Given the description of an element on the screen output the (x, y) to click on. 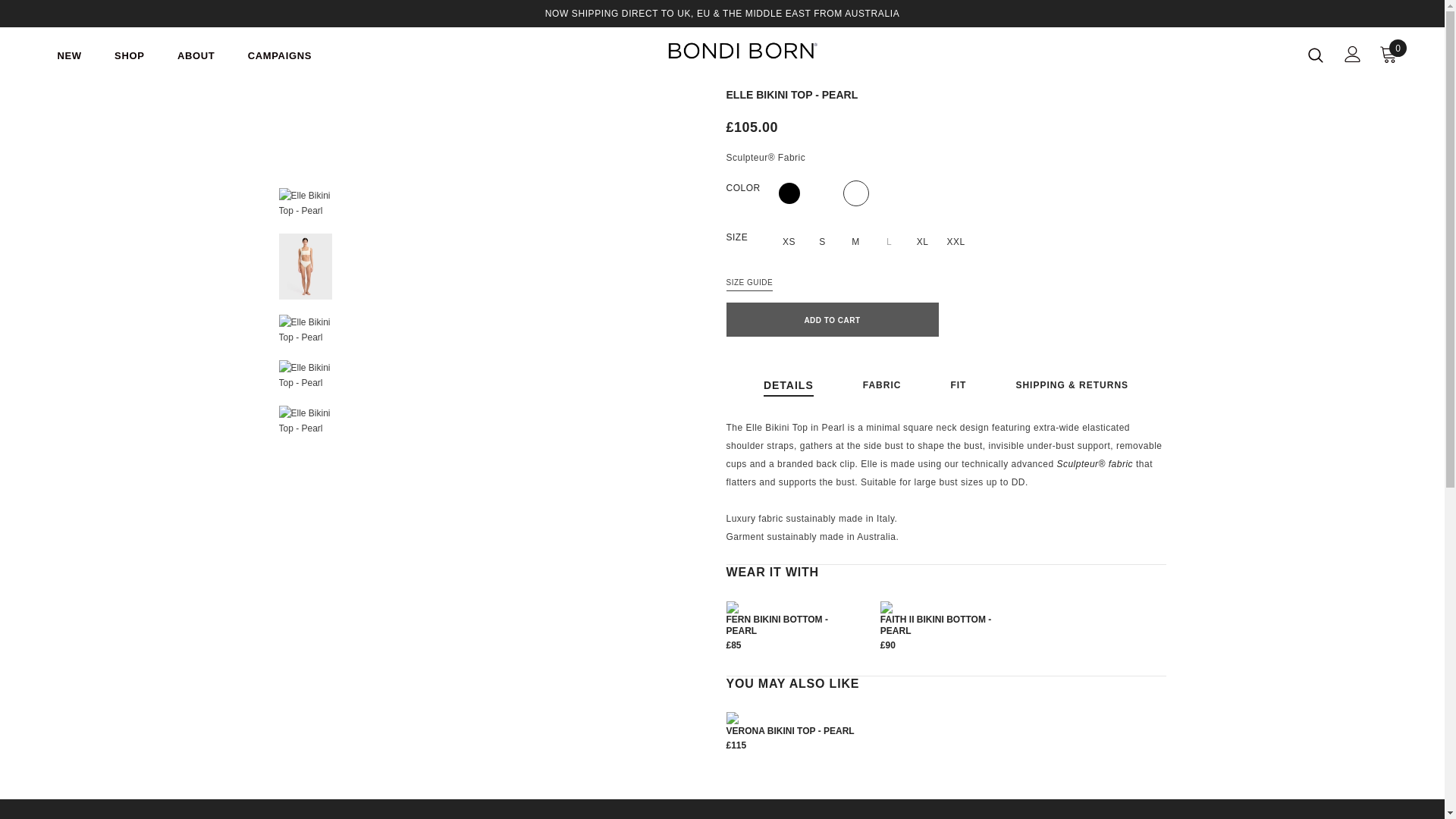
Add to Cart (832, 319)
Search Icon (1315, 54)
Logo (742, 49)
